Given the description of an element on the screen output the (x, y) to click on. 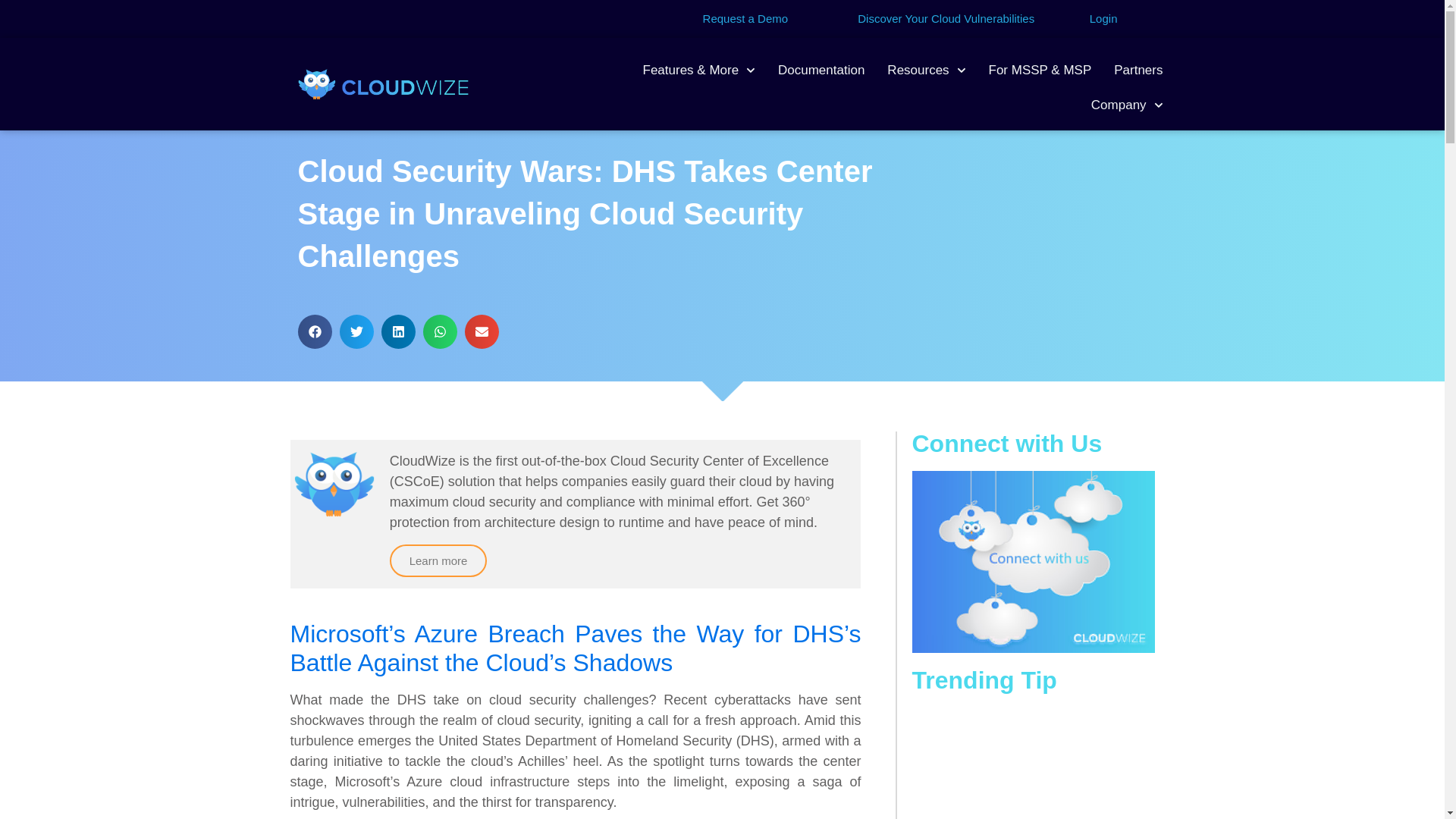
Partners (1137, 70)
Discover Your Cloud Vulnerabilities (945, 18)
Company (1127, 104)
Documentation (821, 70)
Request a Demo (746, 18)
Resources (926, 70)
Login (1103, 18)
